Given the description of an element on the screen output the (x, y) to click on. 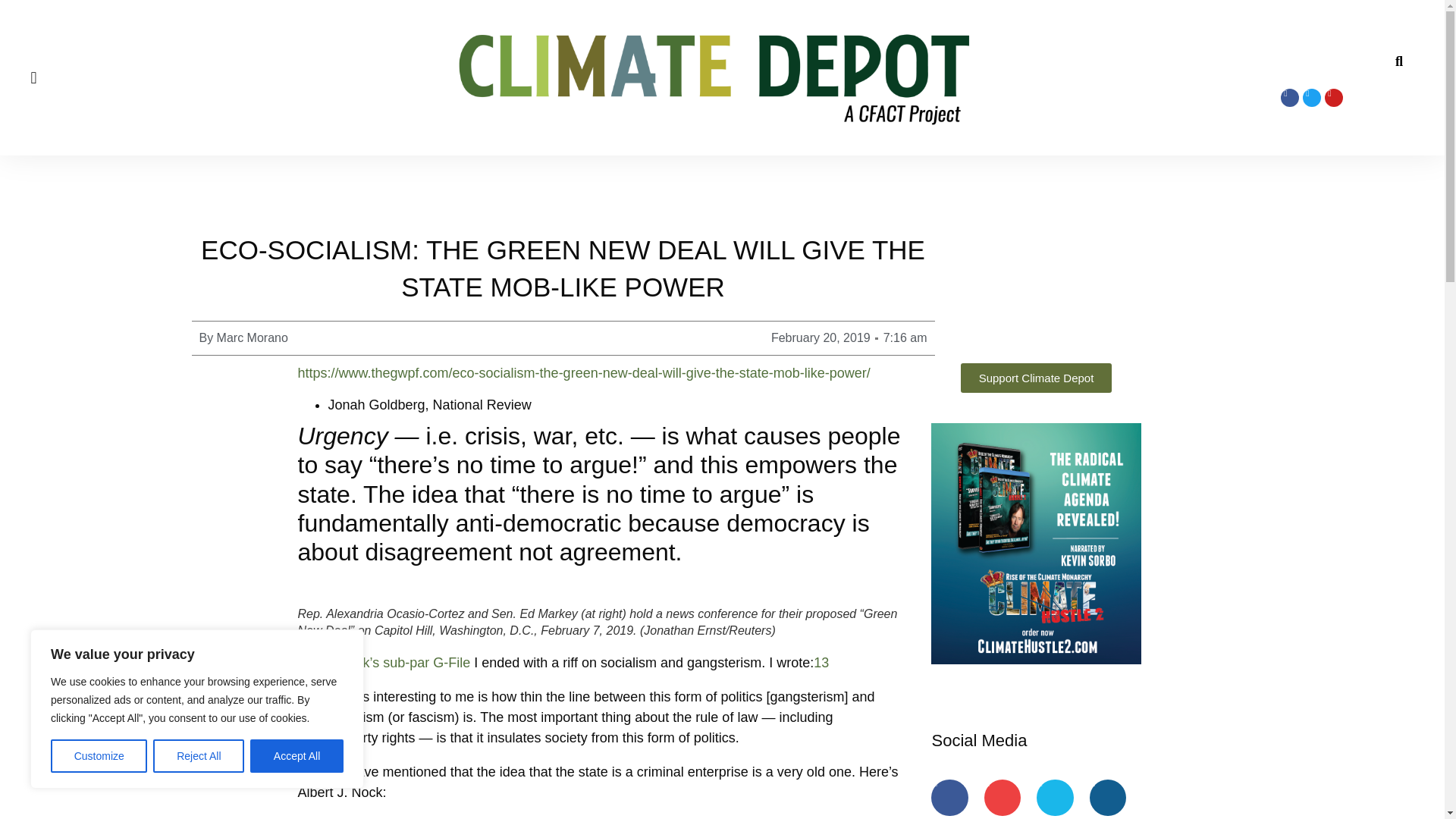
Customize (98, 756)
Support Climate Depot (1036, 378)
13 (820, 662)
By Marc Morano (242, 338)
Accept All (296, 756)
Reject All (198, 756)
February 20, 2019 (820, 338)
